Given the description of an element on the screen output the (x, y) to click on. 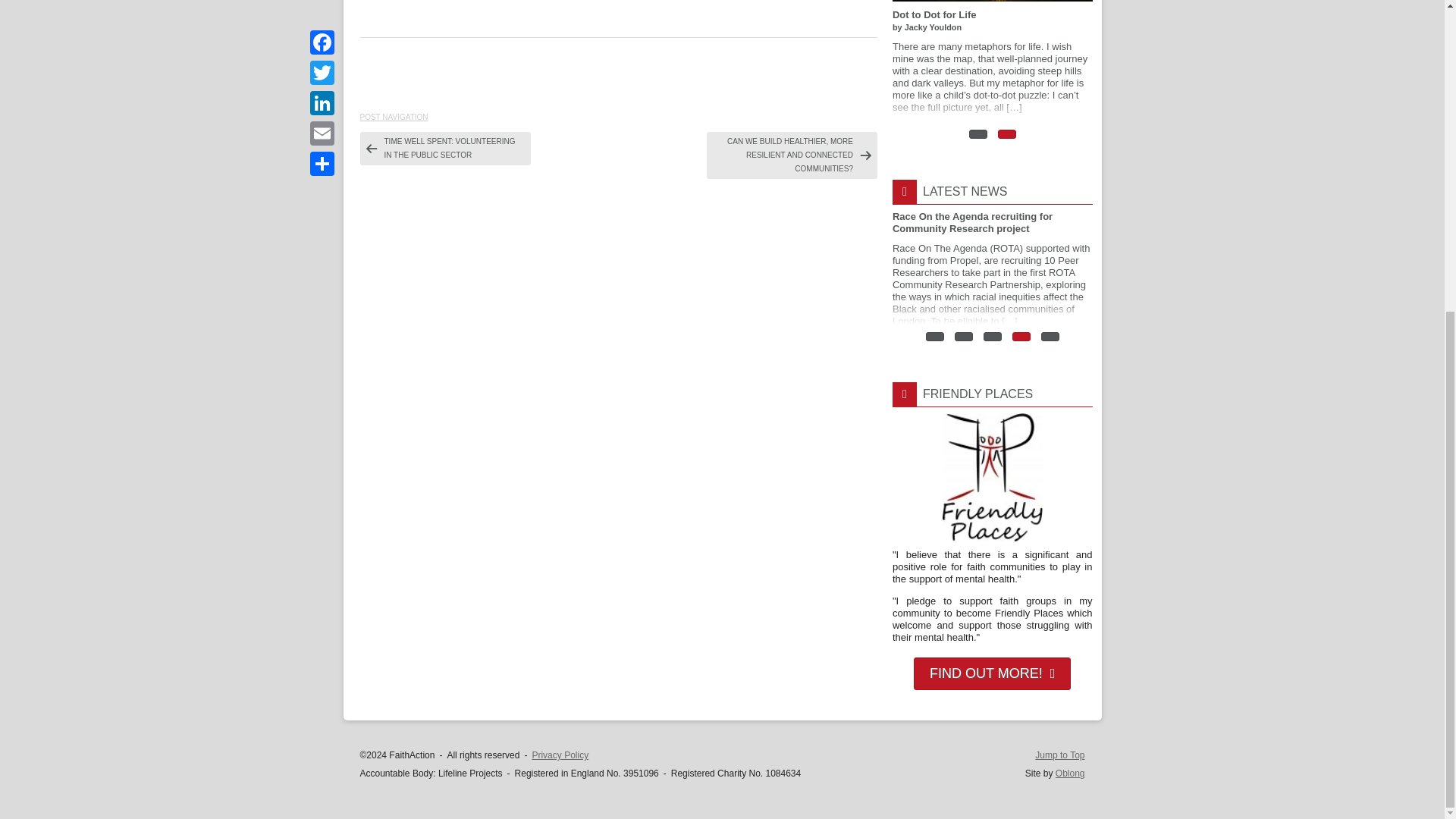
Dot to Dot for Life (992, 61)
Creative English for Health: Pushing Back Boundaries (792, 61)
